Given the description of an element on the screen output the (x, y) to click on. 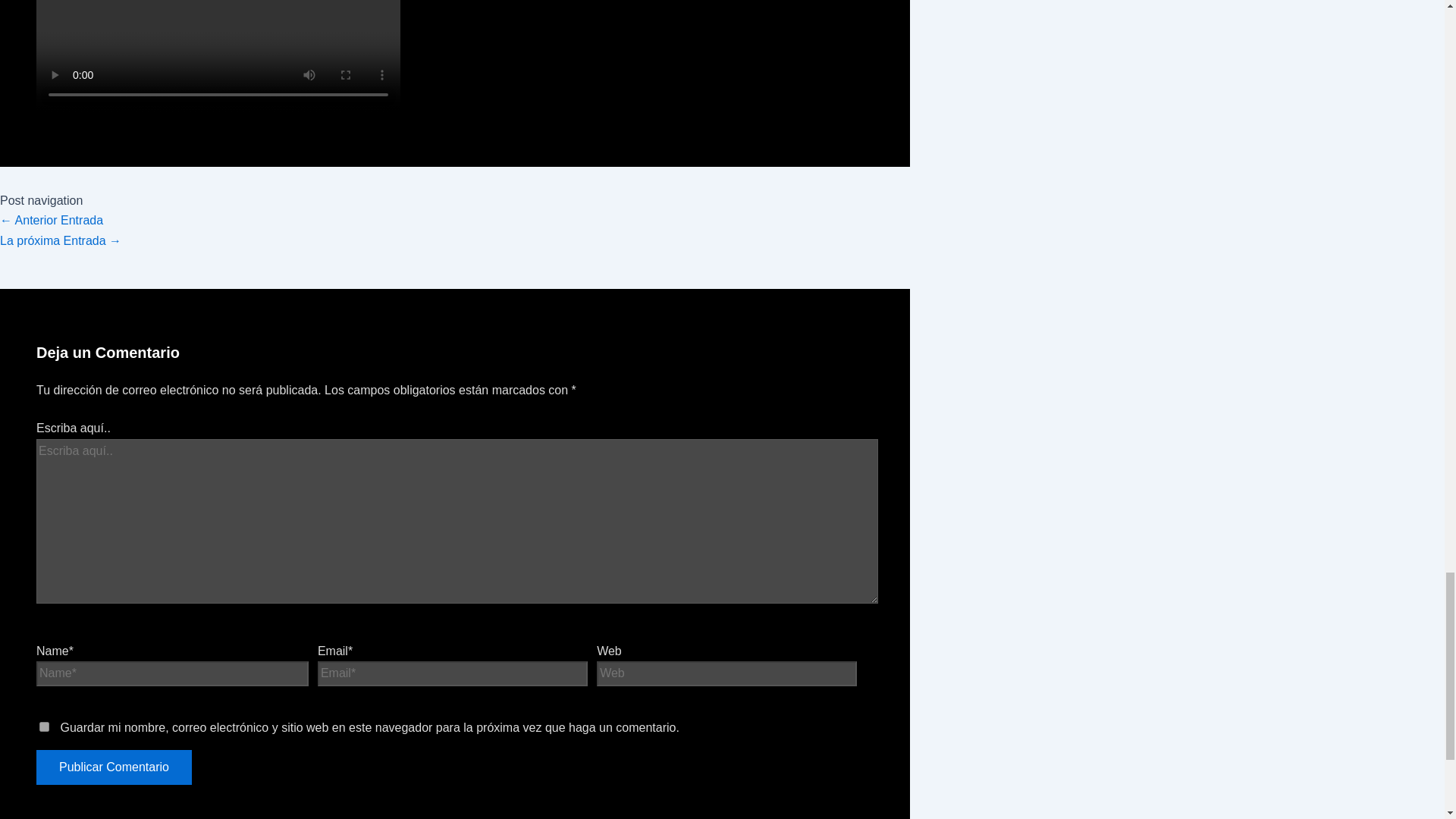
yes (44, 726)
Publicar Comentario (114, 767)
Unleashing the Power of Asset Recovery Specialists in 2024 (60, 239)
Publicar Comentario (114, 767)
